Given the description of an element on the screen output the (x, y) to click on. 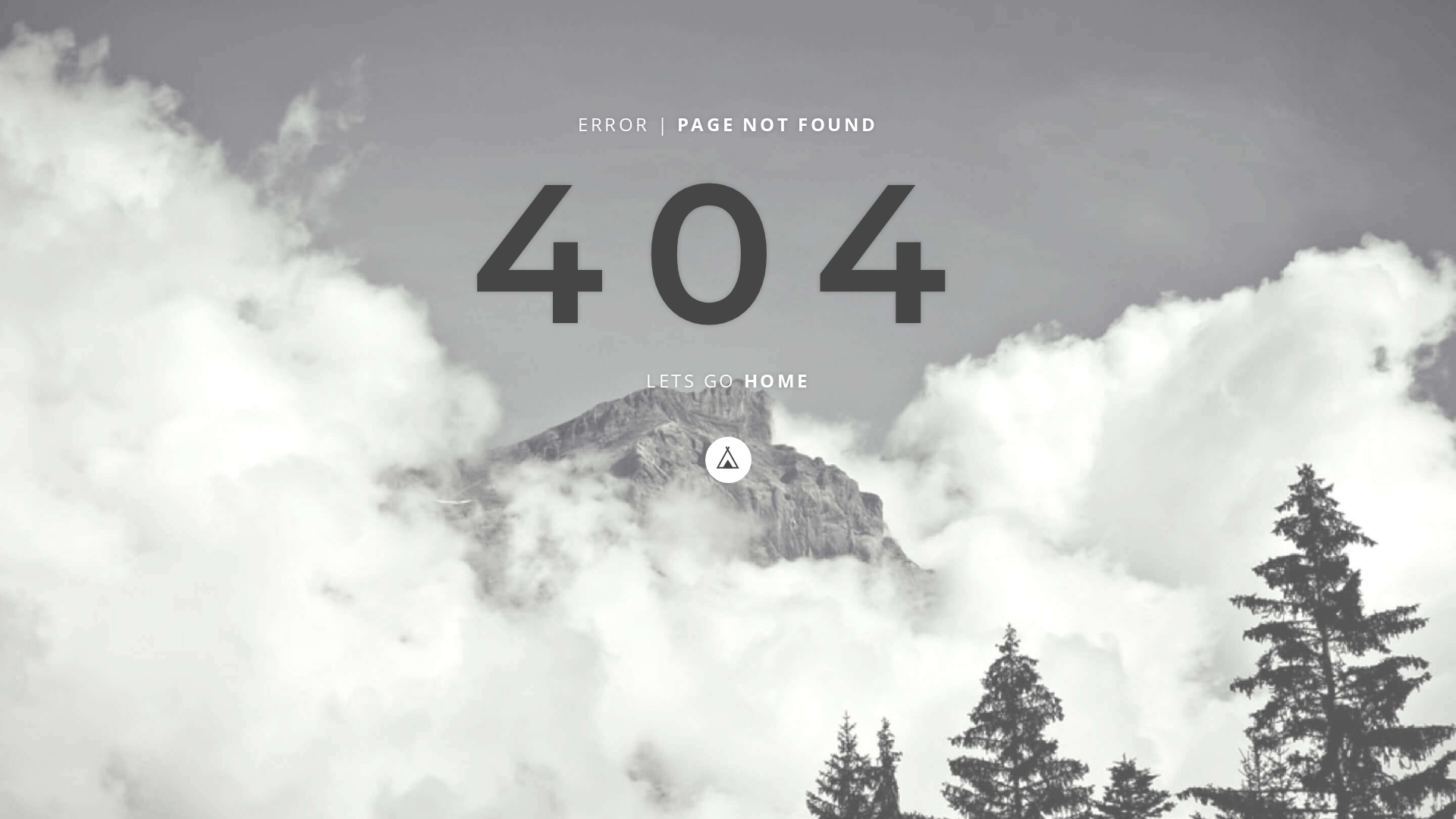
Search Element type: text (1113, 24)
